Given the description of an element on the screen output the (x, y) to click on. 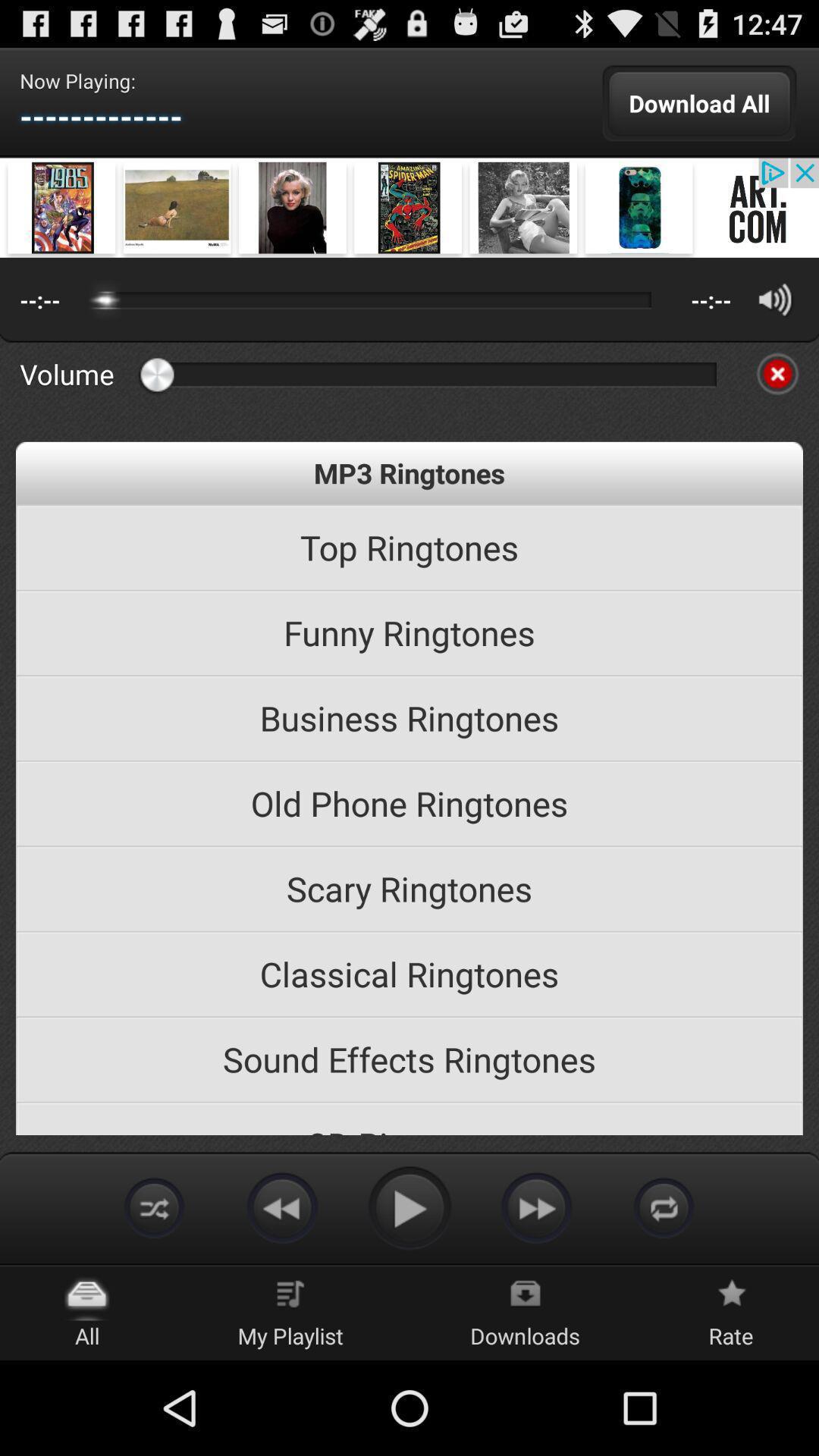
go to previous (281, 1207)
